Given the description of an element on the screen output the (x, y) to click on. 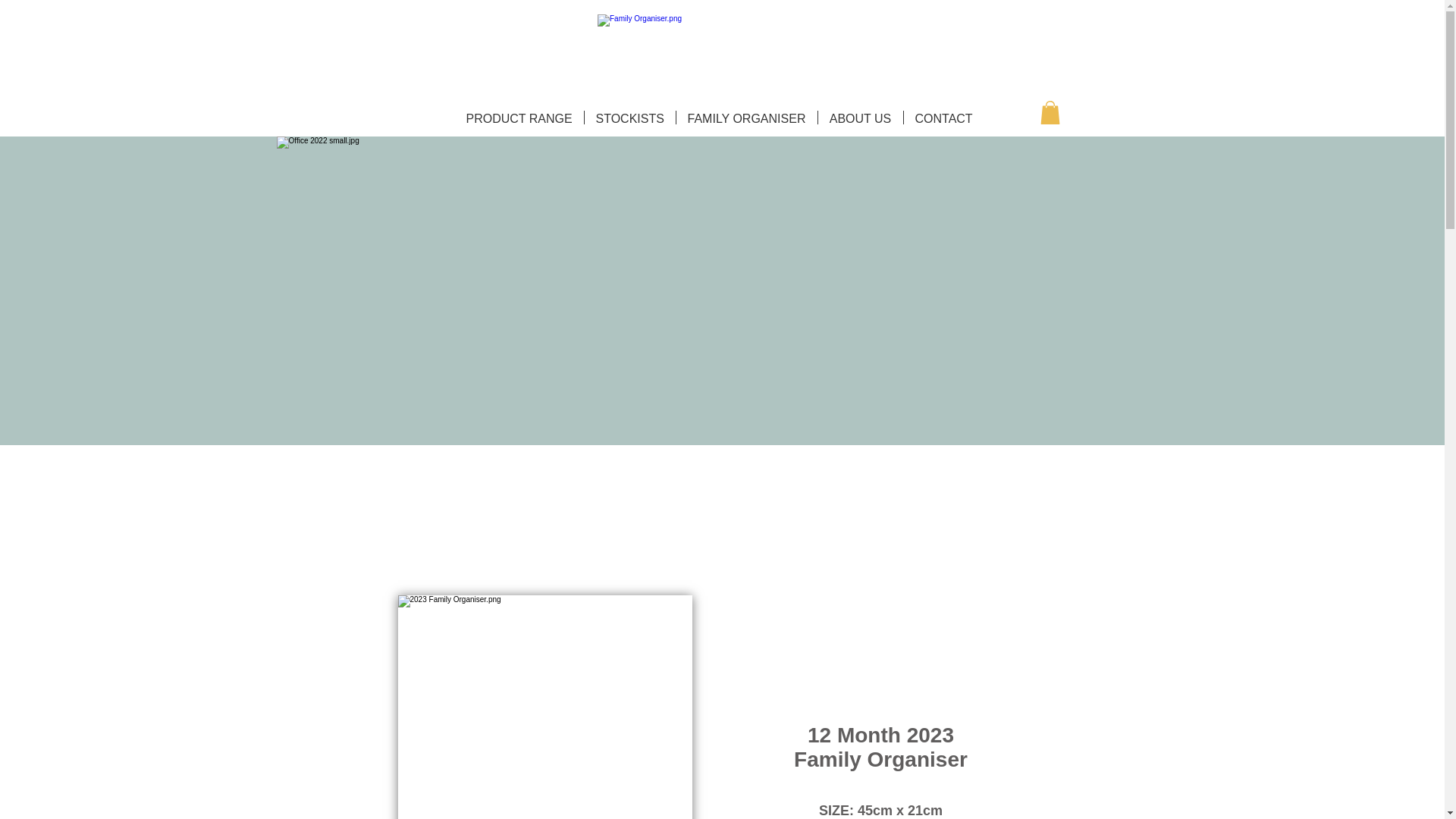
STOCKISTS (629, 117)
PRODUCT RANGE (518, 117)
ABOUT US (859, 117)
CONTACT (944, 117)
